Given the description of an element on the screen output the (x, y) to click on. 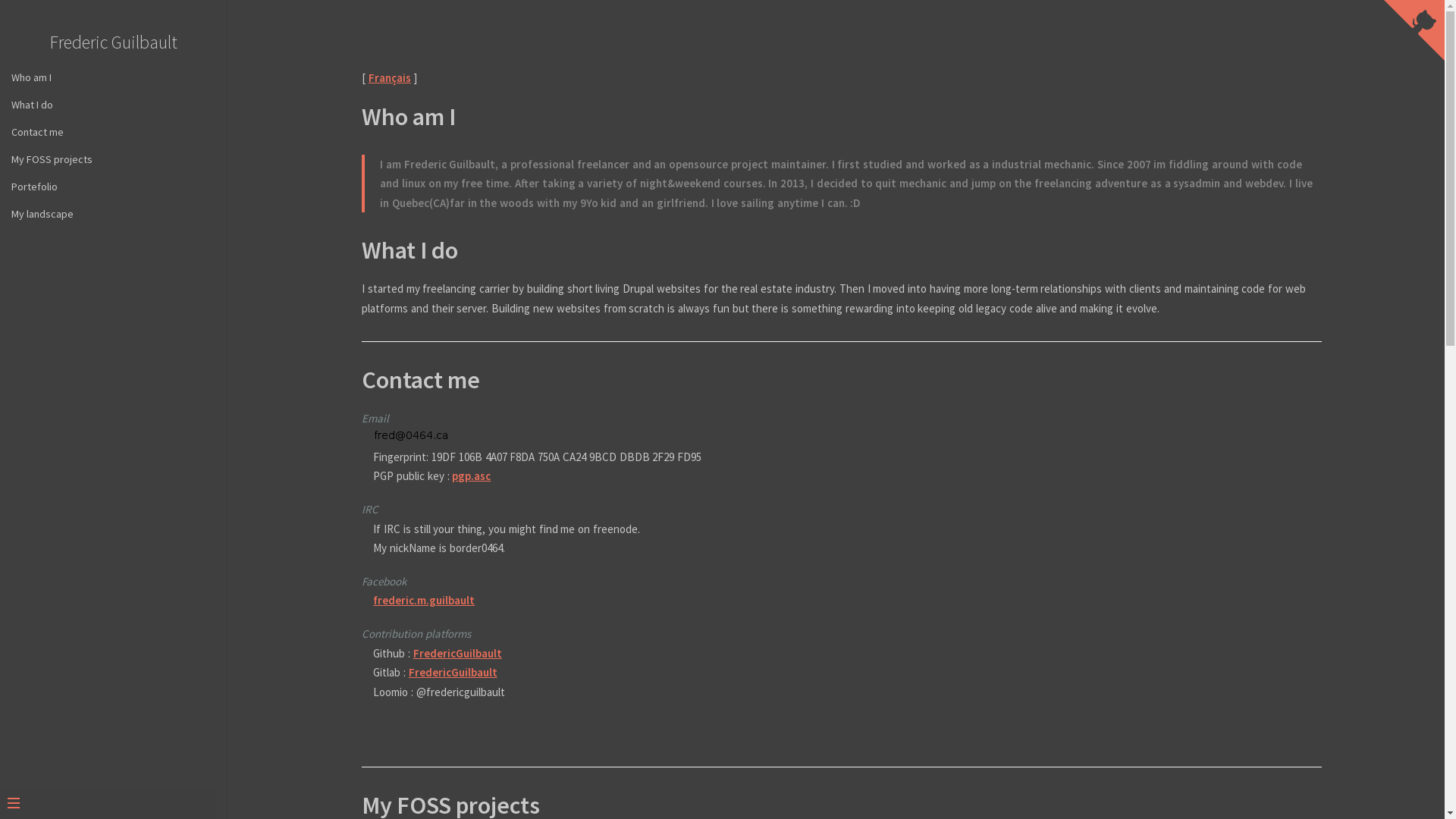
FredericGuilbault Element type: text (457, 653)
What I do Element type: text (409, 250)
Contact me Element type: text (113, 131)
frederic.m.guilbault Element type: text (423, 600)
My FOSS projects Element type: text (113, 158)
My landscape Element type: text (113, 213)
Frederic Guilbault Element type: text (113, 41)
pgp.asc Element type: text (470, 475)
Contact me Element type: text (420, 379)
Who am I Element type: text (113, 76)
Who am I Element type: text (408, 116)
What I do Element type: text (113, 104)
FredericGuilbault Element type: text (452, 672)
Portefolio Element type: text (113, 186)
